Given the description of an element on the screen output the (x, y) to click on. 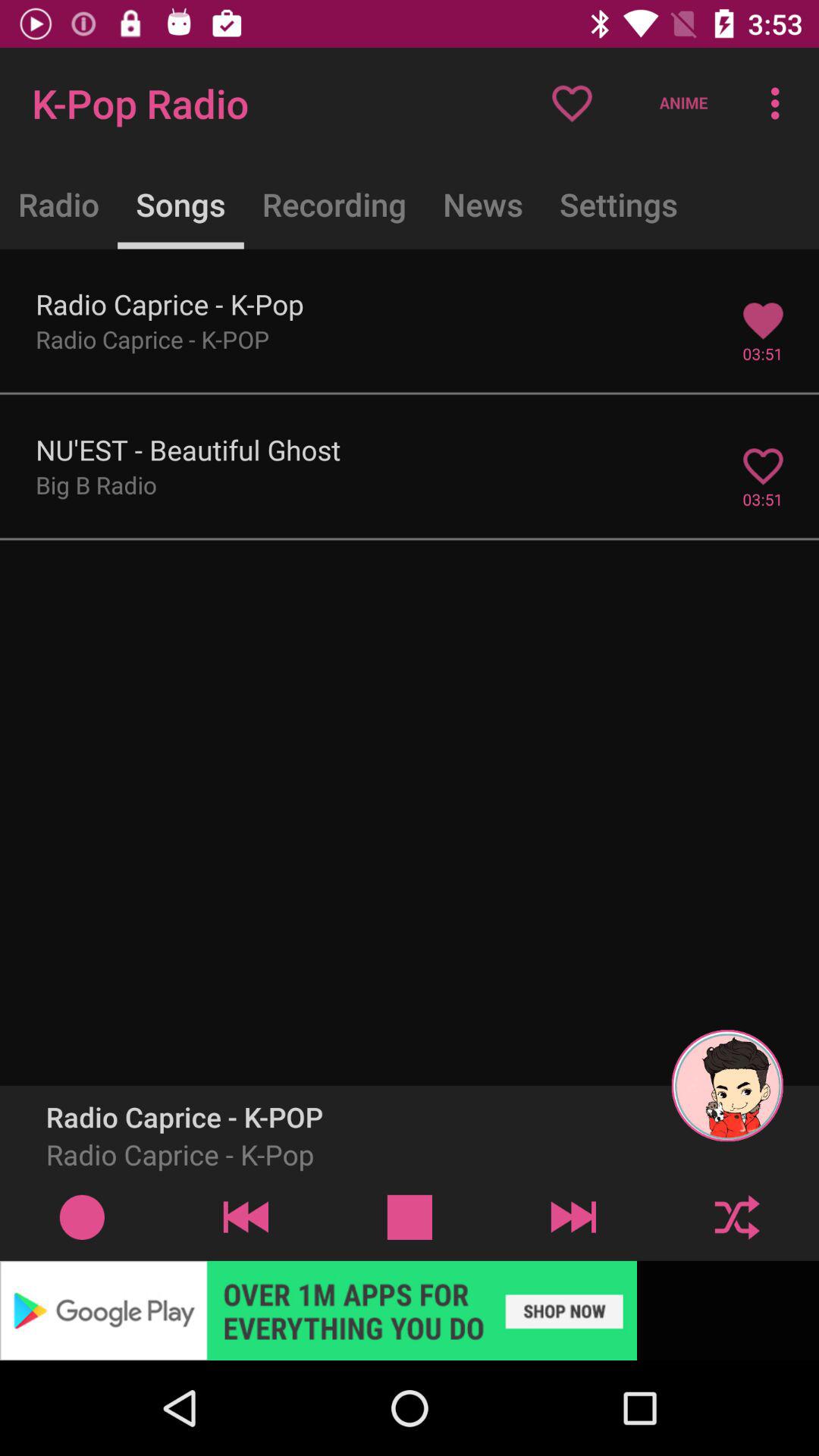
advertisement (409, 1310)
